Given the description of an element on the screen output the (x, y) to click on. 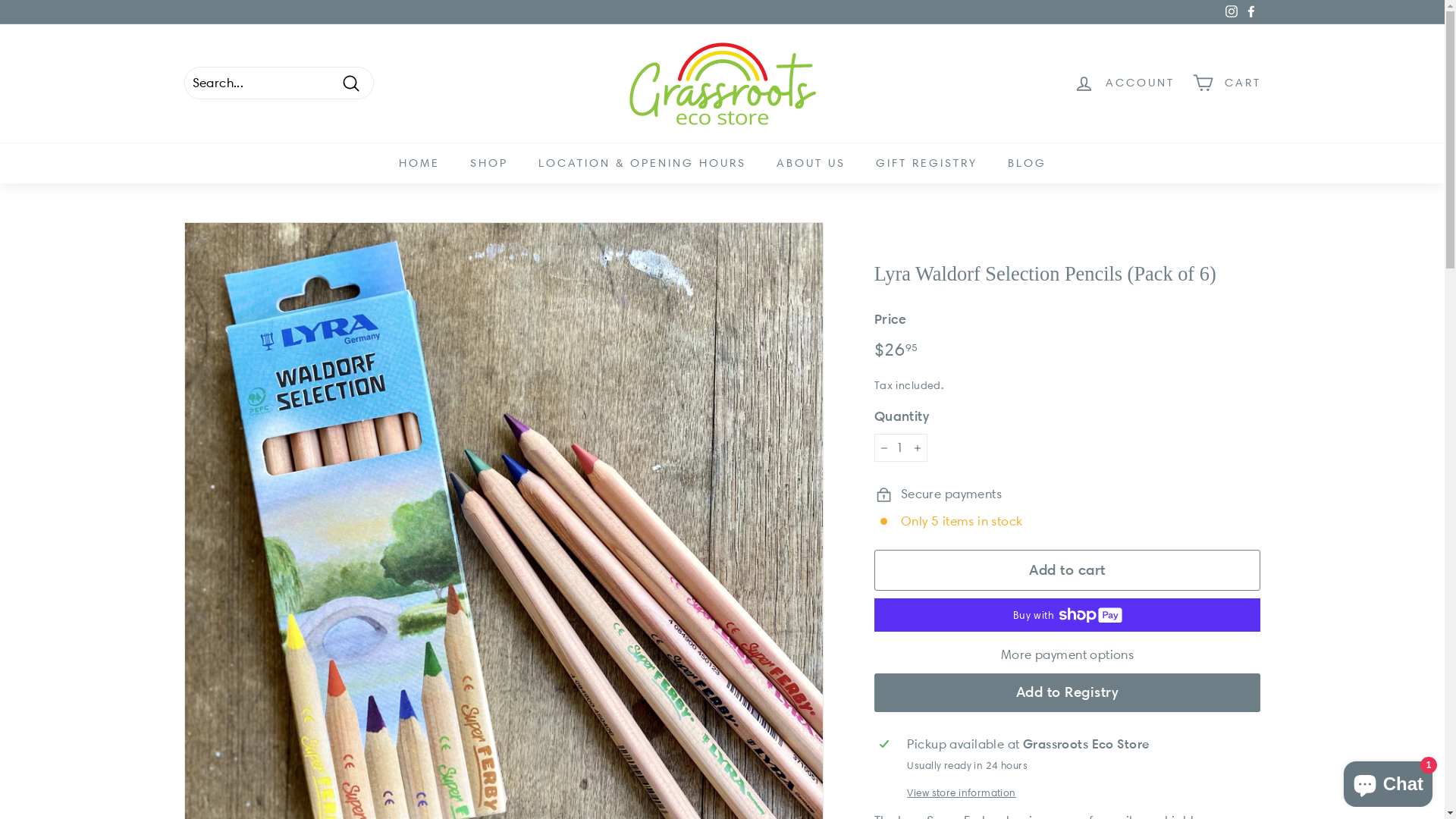
HOME Element type: text (419, 163)
Facebook Element type: text (1250, 12)
Instagram Element type: text (1230, 12)
More payment options Element type: text (1067, 654)
+ Element type: text (917, 447)
LOCATION & OPENING HOURS Element type: text (642, 163)
Shopify online store chat Element type: hover (1388, 780)
View store information Element type: text (1080, 792)
ABOUT US Element type: text (810, 163)
GIFT REGISTRY Element type: text (925, 163)
SHOP Element type: text (489, 163)
BLOG Element type: text (1025, 163)
Skip to content Element type: text (0, 0)
ACCOUNT Element type: text (1123, 82)
Add to cart Element type: text (1067, 569)
